Given the description of an element on the screen output the (x, y) to click on. 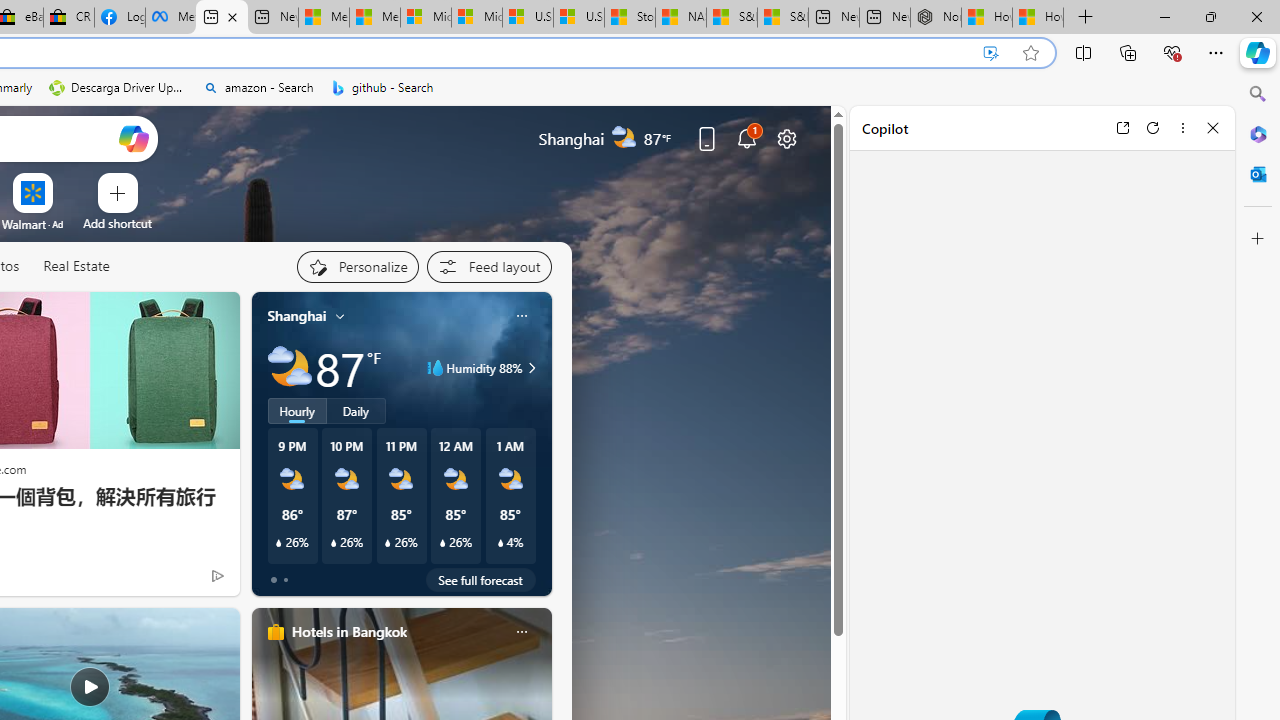
tab-1 (285, 579)
hotels-header-icon (275, 632)
Outlook (1258, 174)
Partly cloudy (289, 368)
